Given the description of an element on the screen output the (x, y) to click on. 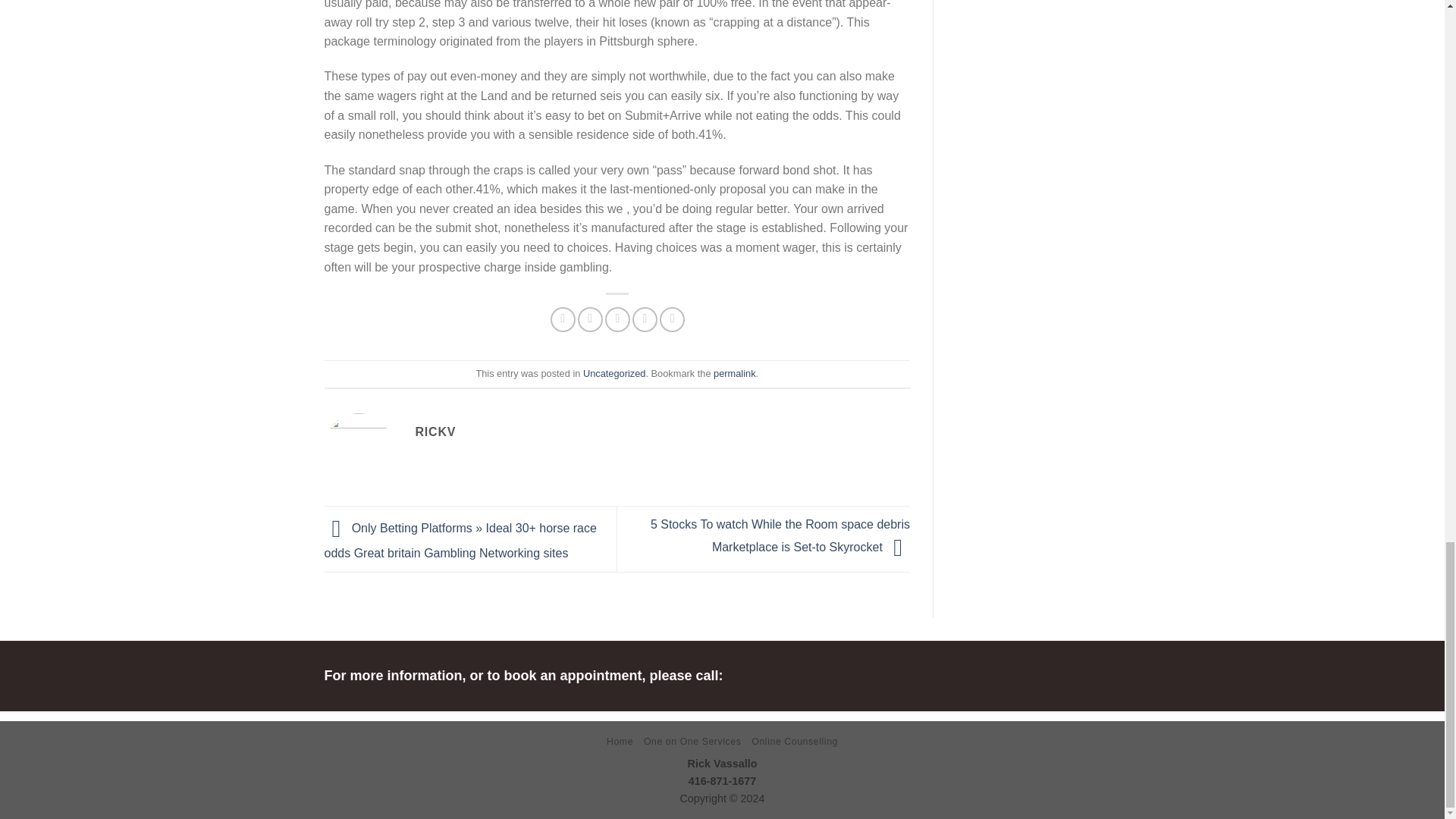
Share on LinkedIn (671, 319)
Pin on Pinterest (644, 319)
Share on Facebook (562, 319)
Email to a Friend (617, 319)
Permalink to Online Craps race bets Actual money (734, 373)
Share on Twitter (590, 319)
